Given the description of an element on the screen output the (x, y) to click on. 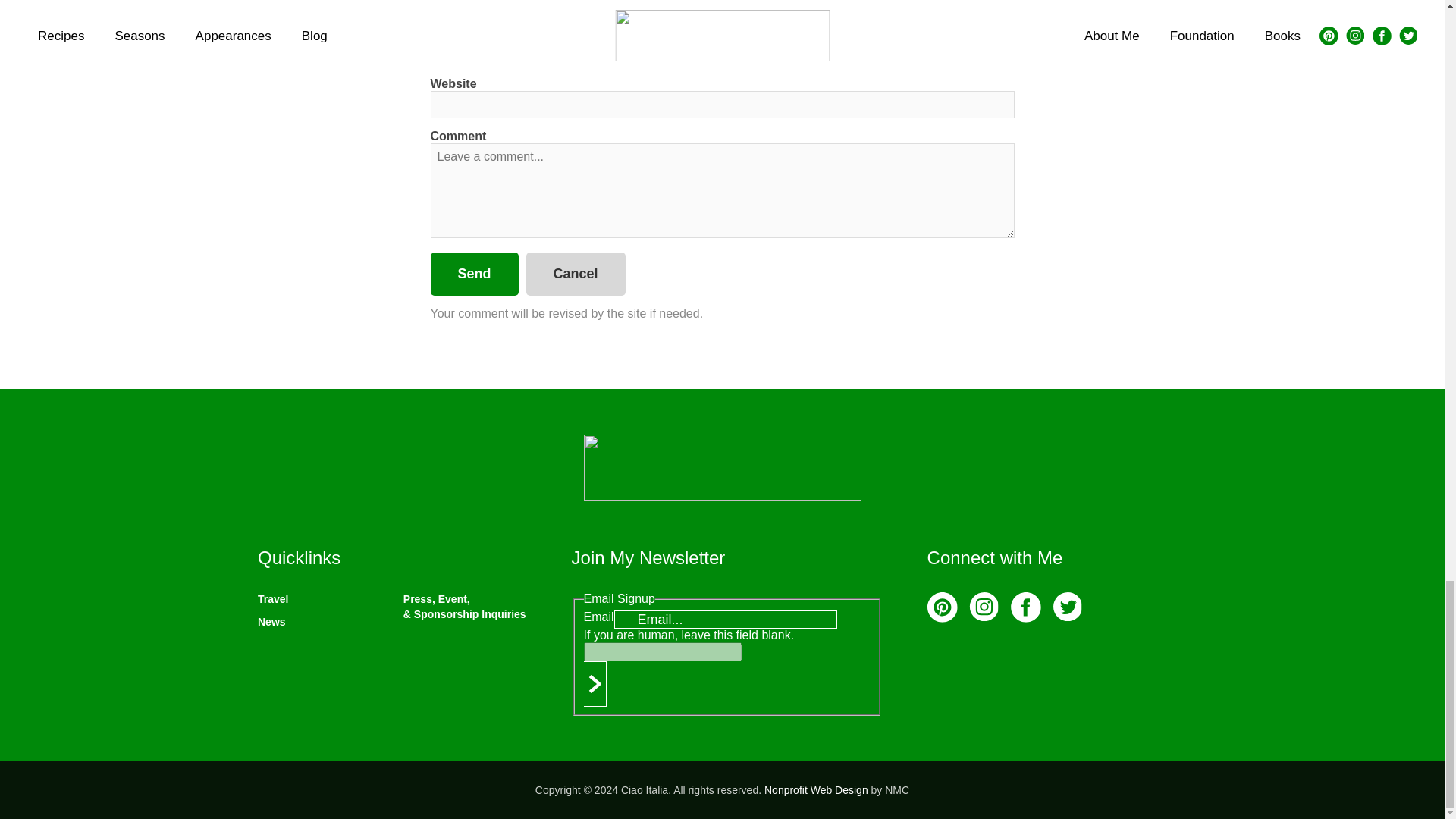
News (271, 621)
Travel (272, 598)
Cancel (575, 273)
Send (474, 273)
